Given the description of an element on the screen output the (x, y) to click on. 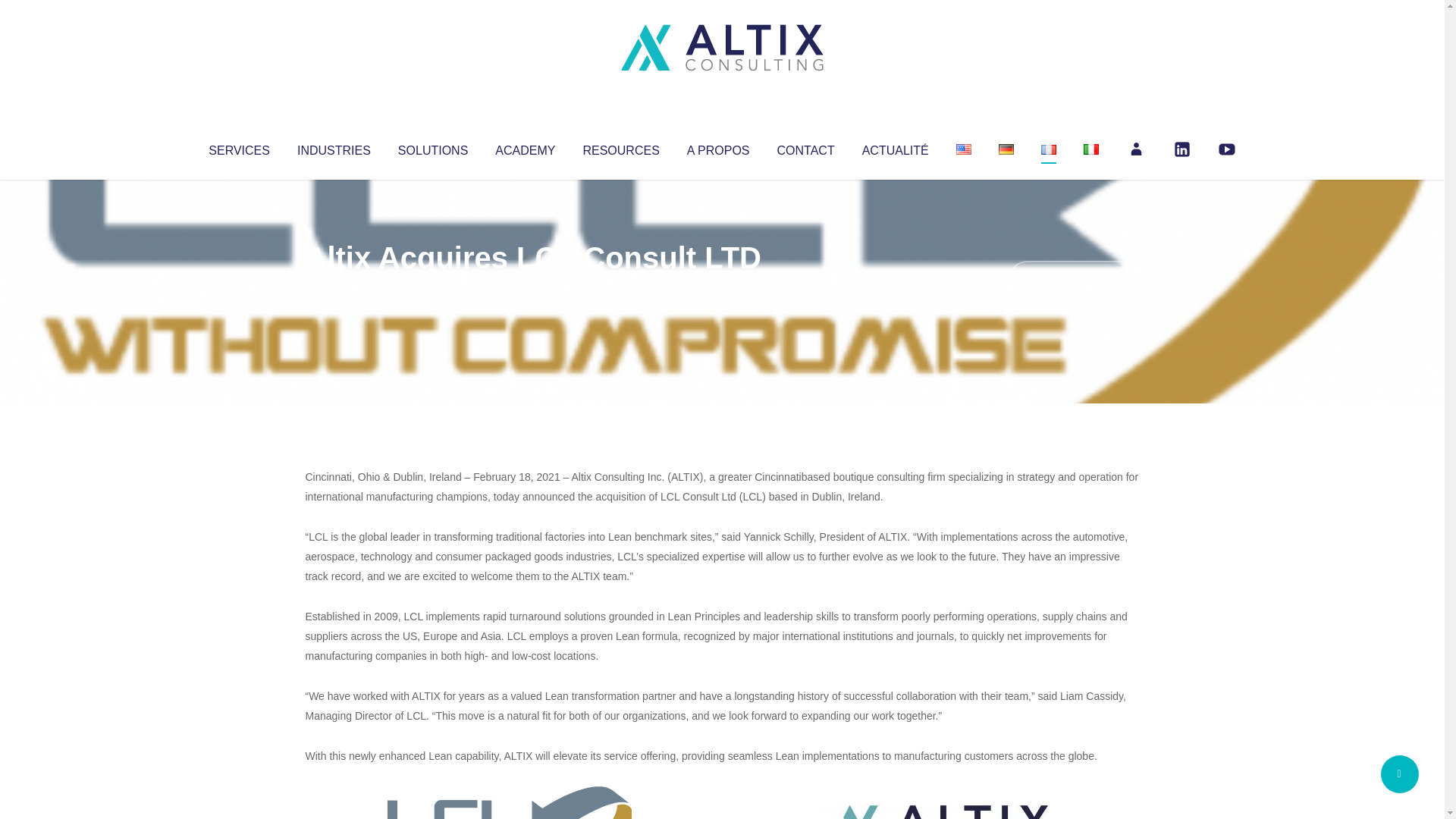
INDUSTRIES (334, 146)
Altix (333, 287)
RESOURCES (620, 146)
SERVICES (238, 146)
Articles par Altix (333, 287)
SOLUTIONS (432, 146)
Uncategorized (530, 287)
No Comments (1073, 278)
A PROPOS (718, 146)
ACADEMY (524, 146)
